Given the description of an element on the screen output the (x, y) to click on. 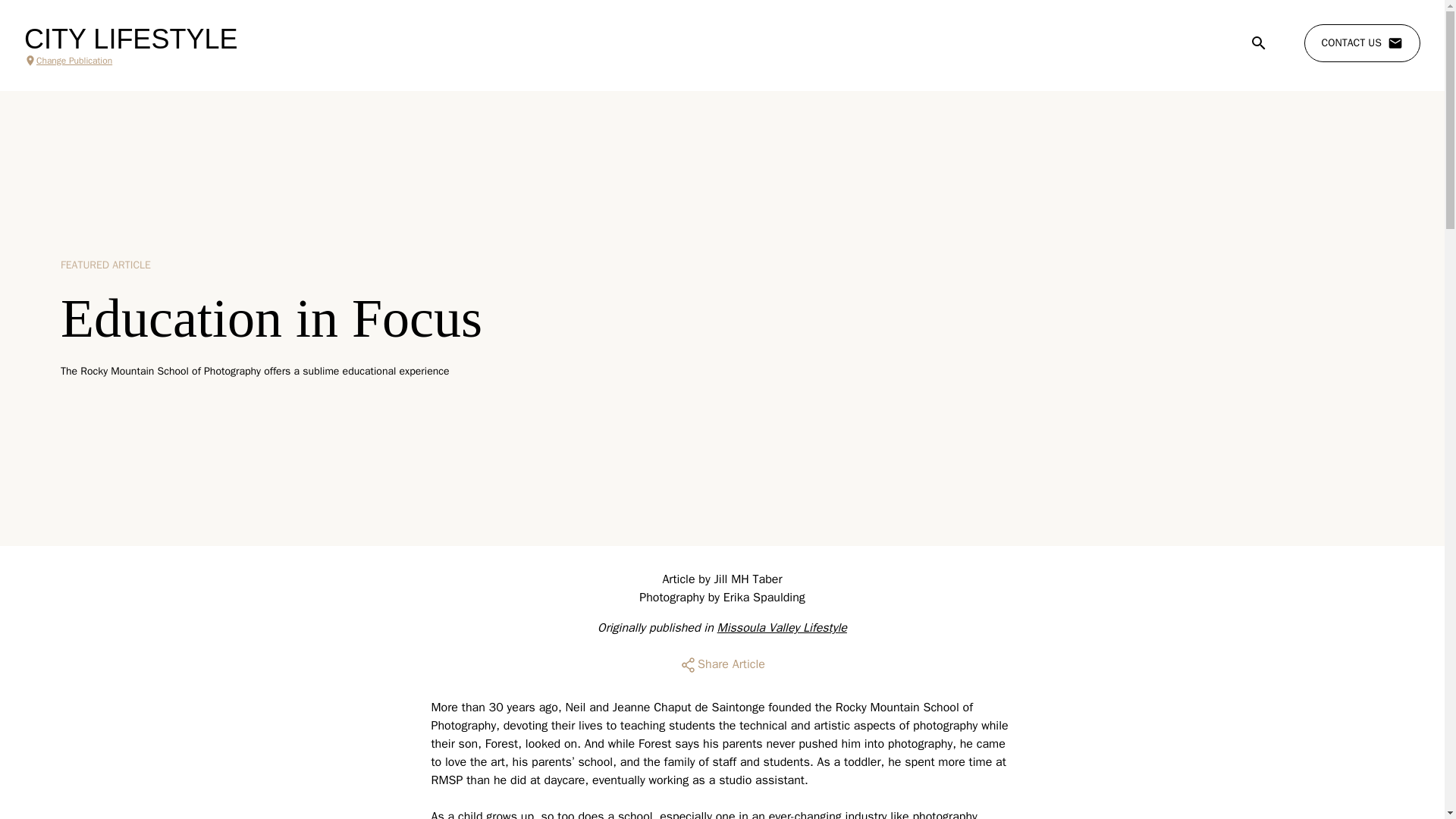
Change Publication (130, 60)
CONTACT US (1362, 43)
CITY LIFESTYLE (130, 39)
Share Article (722, 664)
Missoula Valley Lifestyle (782, 627)
